Given the description of an element on the screen output the (x, y) to click on. 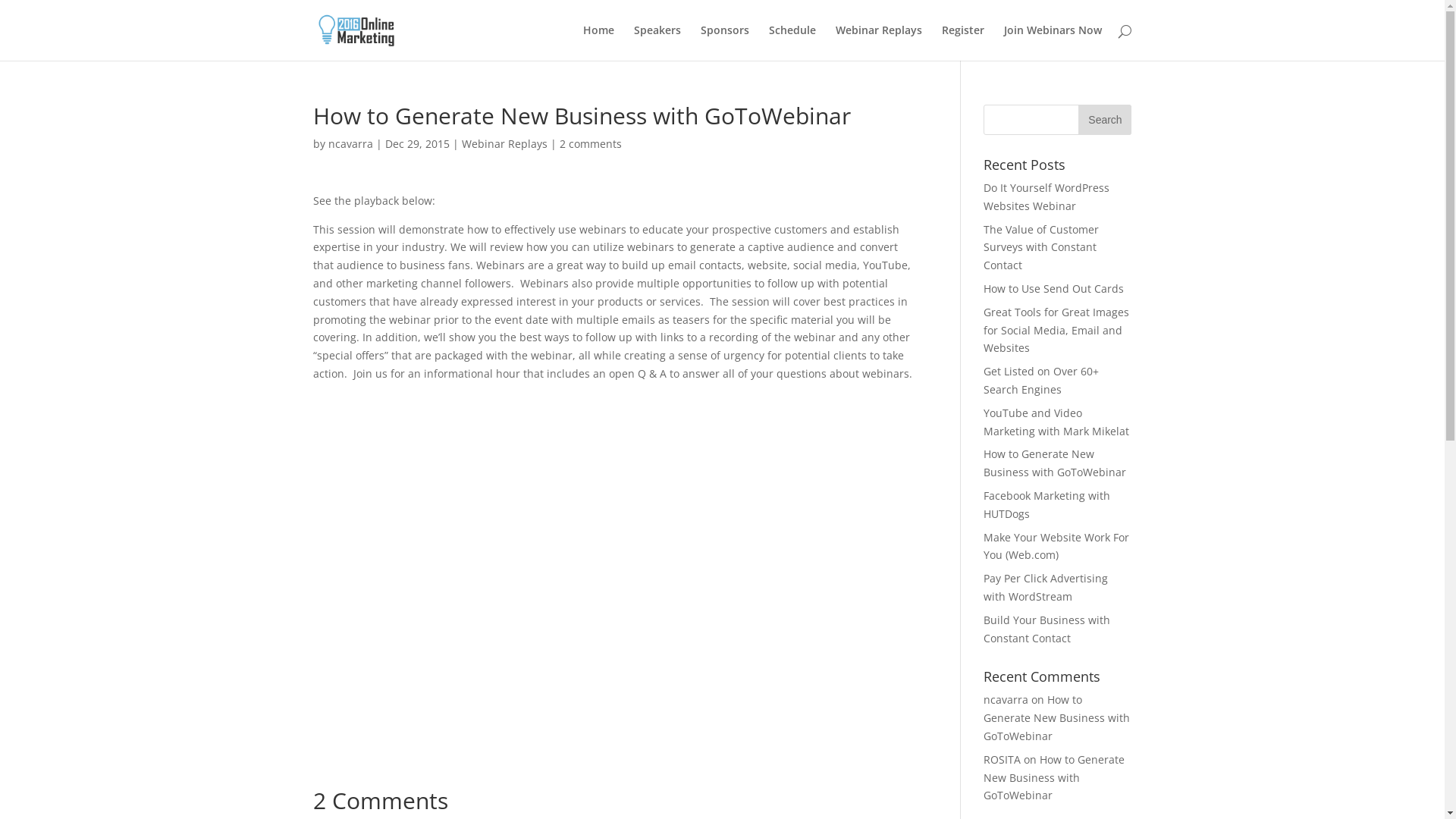
Get Listed on Over 60+ Search Engines Element type: text (1040, 380)
Webinar Replays Element type: text (503, 143)
How to Use Send Out Cards Element type: text (1053, 288)
Join Webinars Now Element type: text (1052, 42)
Webinar Replays Element type: text (878, 42)
Speakers Element type: text (656, 42)
Make Your Website Work For You (Web.com) Element type: text (1056, 546)
Register Element type: text (962, 42)
How to Generate New Business with GoToWebinar Element type: text (1054, 462)
Schedule Element type: text (791, 42)
Search Element type: text (1104, 119)
How to Generate New Business with GoToWebinar Element type: text (1053, 777)
Pay Per Click Advertising with WordStream Element type: text (1045, 587)
Sponsors Element type: text (724, 42)
How to Generate New Business with GoToWebinar Element type: text (1056, 717)
2 comments Element type: text (590, 143)
YouTube and Video Marketing with Mark Mikelat Element type: text (1056, 421)
The Value of Customer Surveys with Constant Contact Element type: text (1040, 247)
Facebook Marketing with HUTDogs Element type: text (1046, 504)
Home Element type: text (597, 42)
ncavarra Element type: text (349, 143)
Build Your Business with Constant Contact Element type: text (1046, 628)
Do It Yourself WordPress Websites Webinar Element type: text (1046, 196)
